Given the description of an element on the screen output the (x, y) to click on. 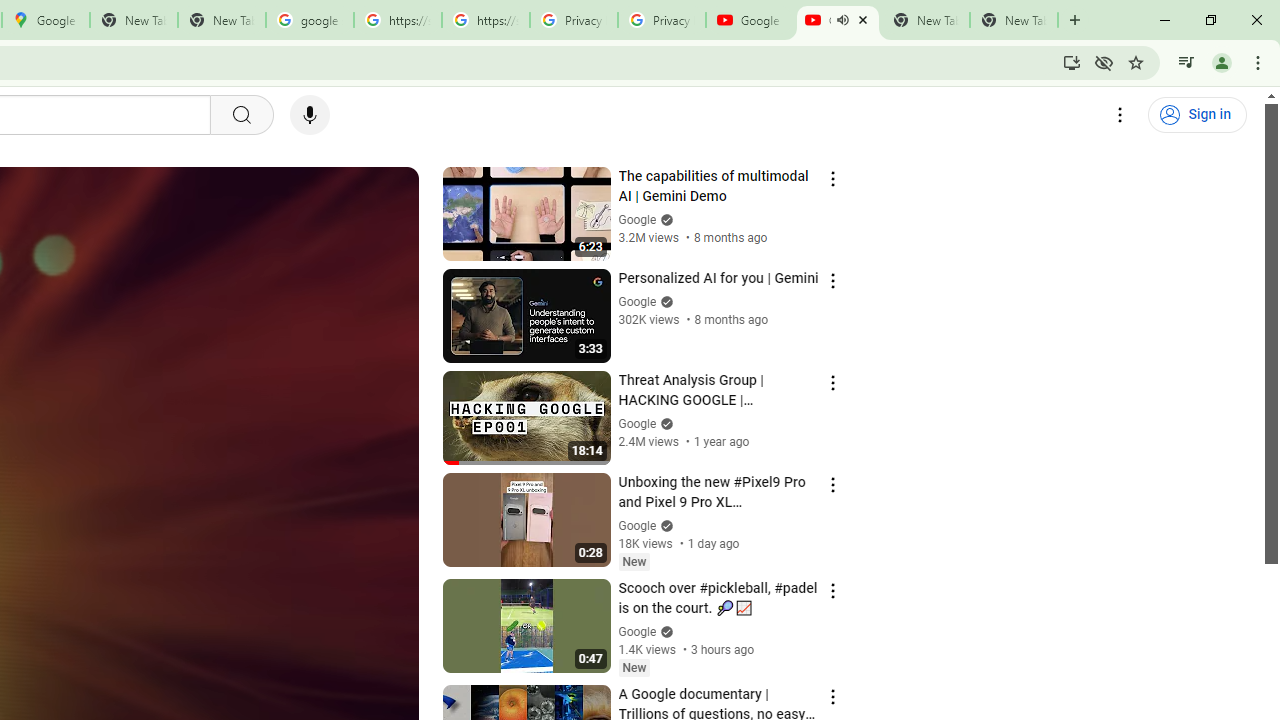
https://scholar.google.com/ (485, 20)
Search with your voice (309, 115)
Install YouTube (1071, 62)
Mute tab (842, 20)
